Given the description of an element on the screen output the (x, y) to click on. 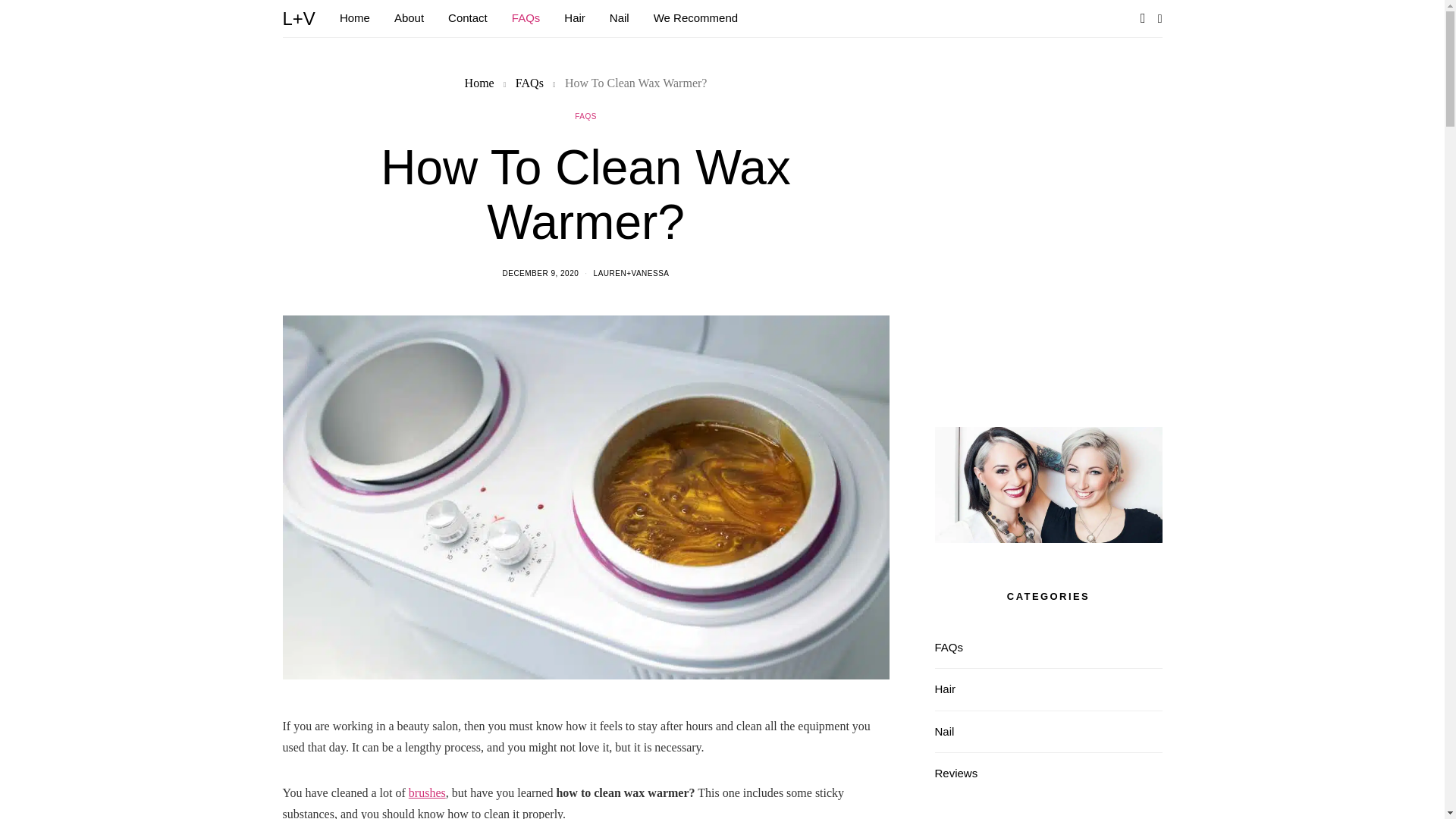
We Recommend (695, 18)
brushes (427, 792)
FAQs (529, 82)
Home (479, 82)
Contact (467, 18)
DECEMBER 9, 2020 (540, 273)
FAQS (585, 116)
